Given the description of an element on the screen output the (x, y) to click on. 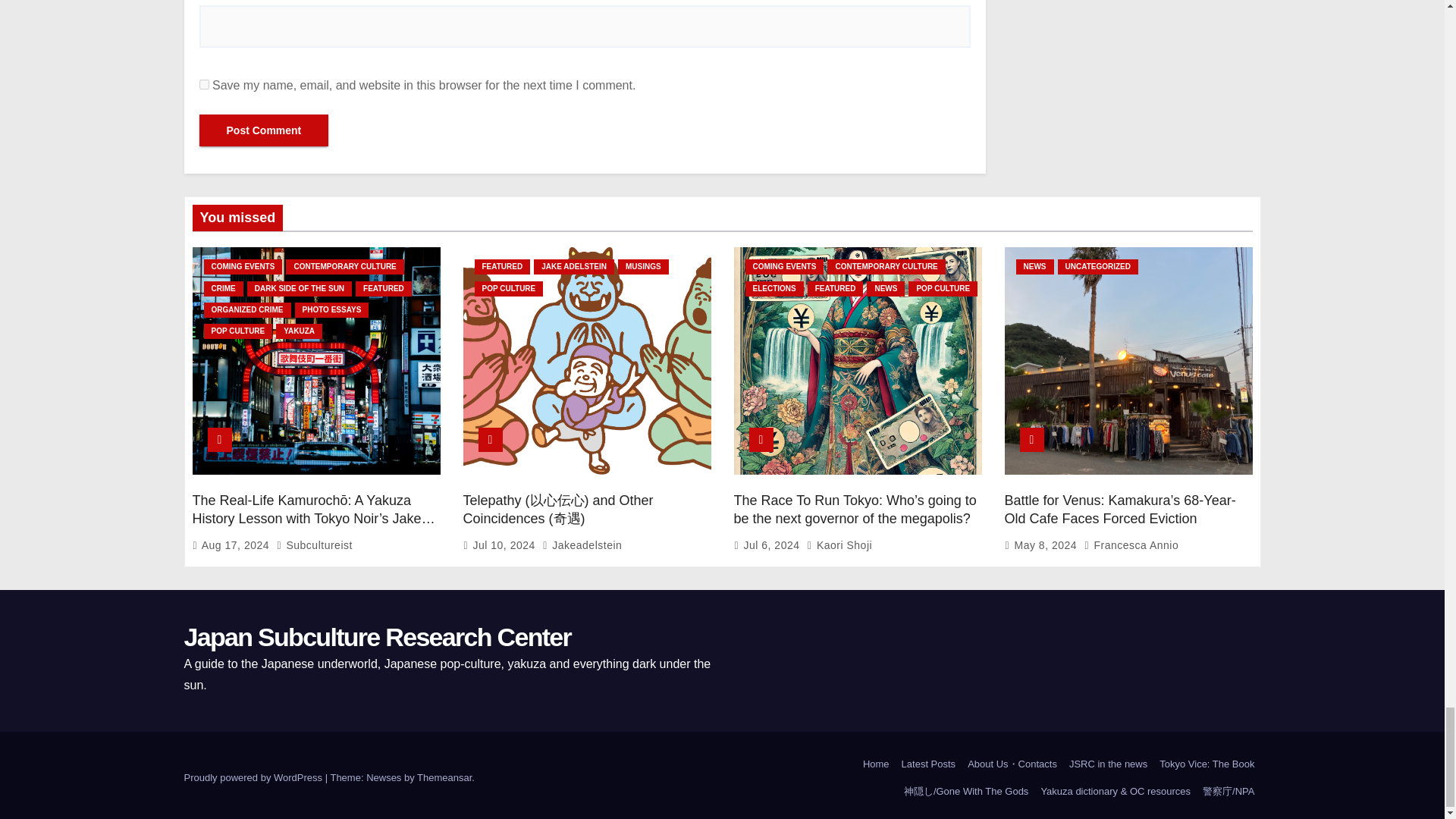
Post Comment (263, 130)
Home (876, 764)
yes (203, 84)
